Given the description of an element on the screen output the (x, y) to click on. 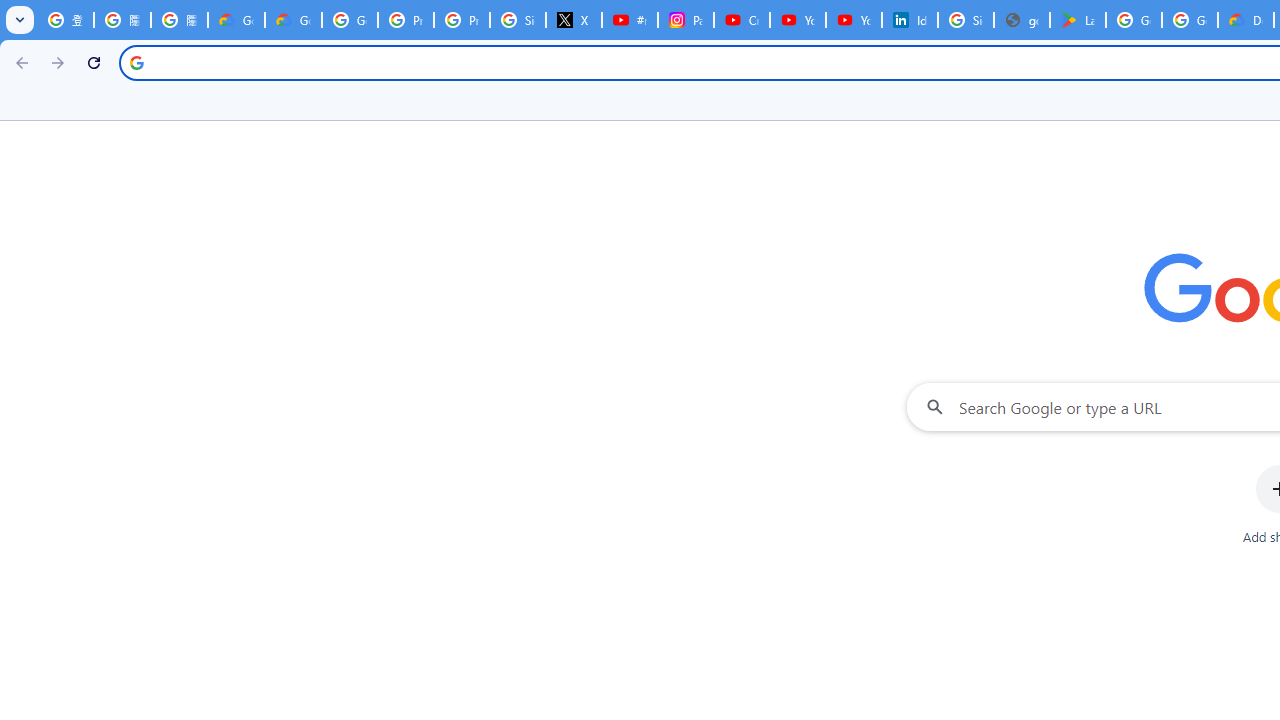
Google Cloud Privacy Notice (235, 20)
google_privacy_policy_en.pdf (1021, 20)
X (573, 20)
Sign in - Google Accounts (518, 20)
YouTube Culture & Trends - YouTube Top 10, 2021 (853, 20)
Privacy Help Center - Policies Help (461, 20)
